Given the description of an element on the screen output the (x, y) to click on. 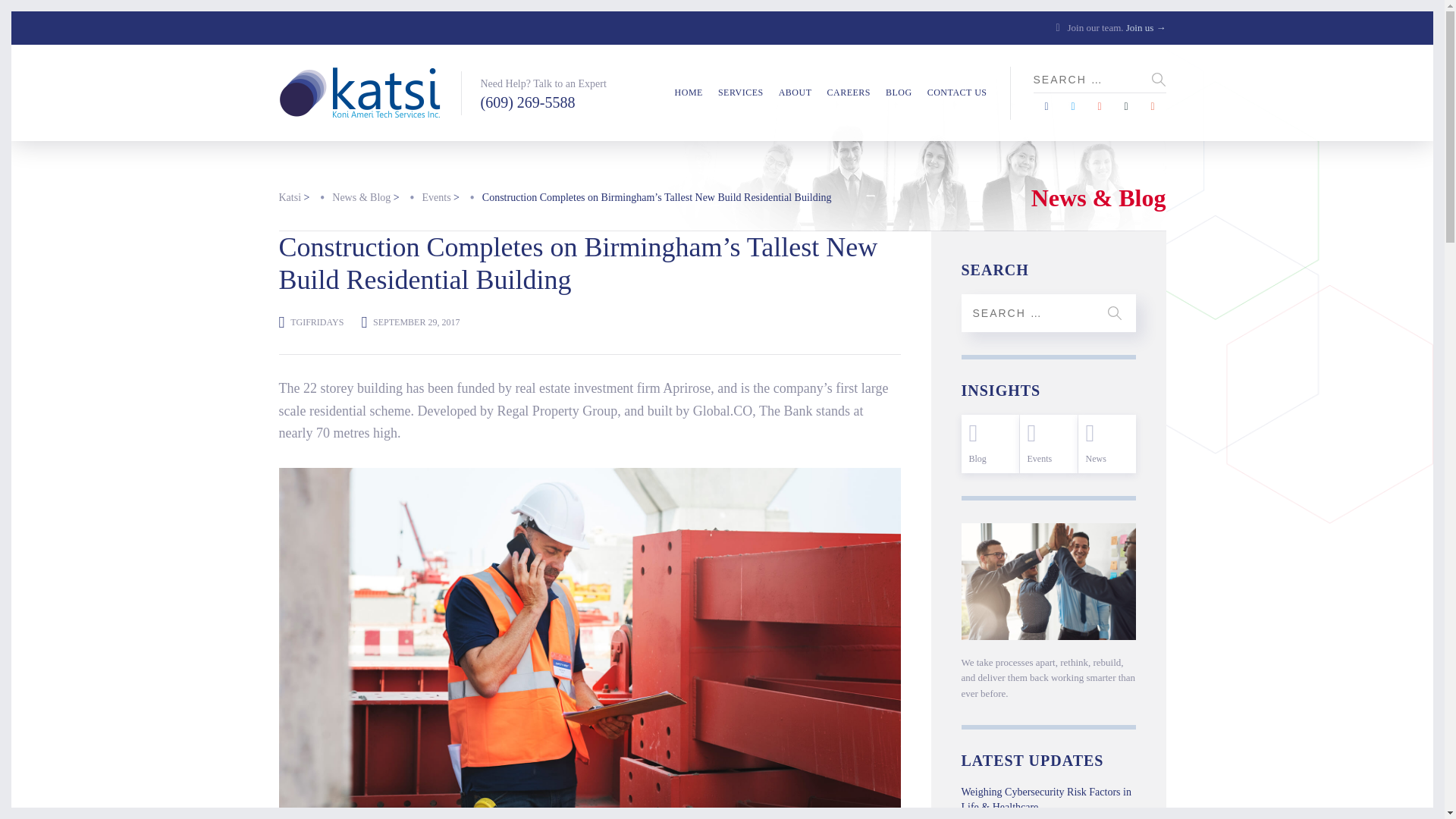
Search (1158, 79)
Search (1114, 313)
SERVICES (739, 92)
Search (1158, 79)
Search (1114, 313)
CONTACT US (957, 92)
Posts by tgifridays (316, 321)
Search (1158, 79)
